Given the description of an element on the screen output the (x, y) to click on. 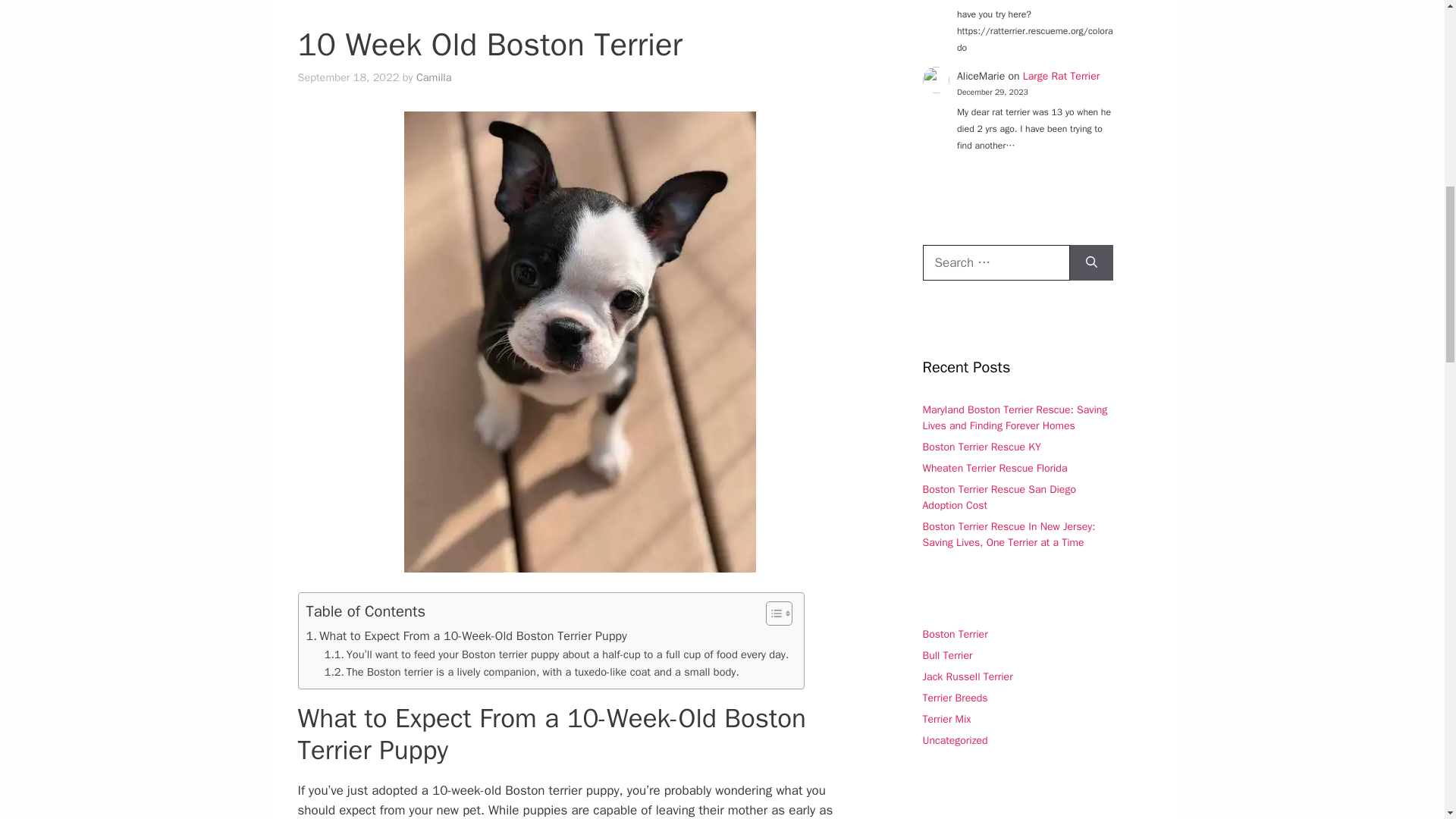
What to Expect From a 10-Week-Old Boston Terrier Puppy (466, 636)
Camilla (433, 77)
View all posts by Camilla (433, 77)
Large Rat Terrier (1061, 75)
What to Expect From a 10-Week-Old Boston Terrier Puppy (466, 636)
